Given the description of an element on the screen output the (x, y) to click on. 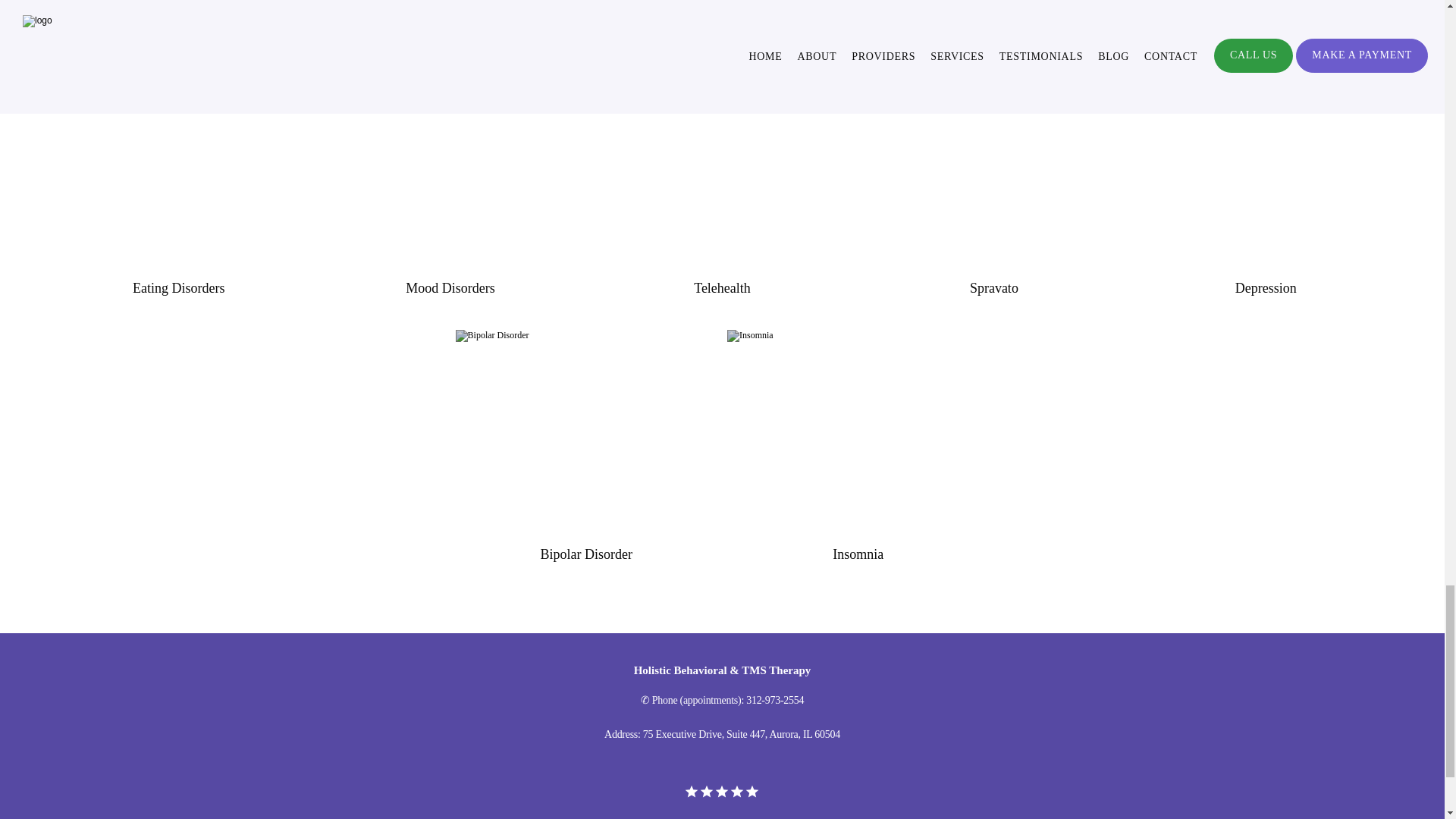
TMS (450, 23)
Group Therapy (720, 23)
Medication Management (178, 23)
Psychotherapy (993, 23)
Ketamine Therapy (1265, 23)
Eating Disorders (178, 288)
